Given the description of an element on the screen output the (x, y) to click on. 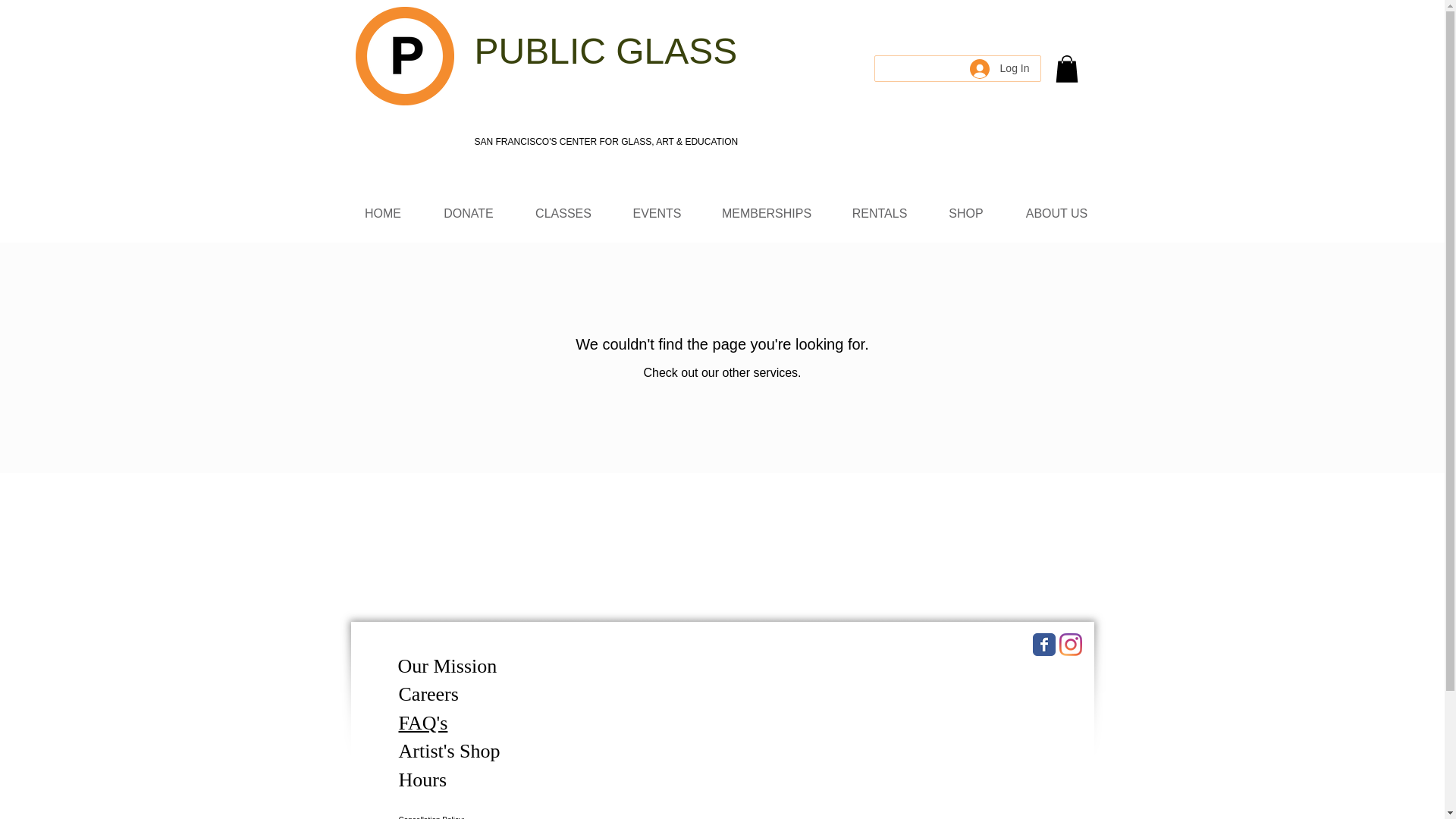
CLASSES (562, 212)
RENTALS (879, 212)
HOME (382, 212)
MEMBERSHIPS (766, 212)
Log In (1000, 68)
EVENTS (656, 212)
PUBLIC GLASS (606, 55)
DONATE (469, 212)
SHOP (966, 212)
